Given the description of an element on the screen output the (x, y) to click on. 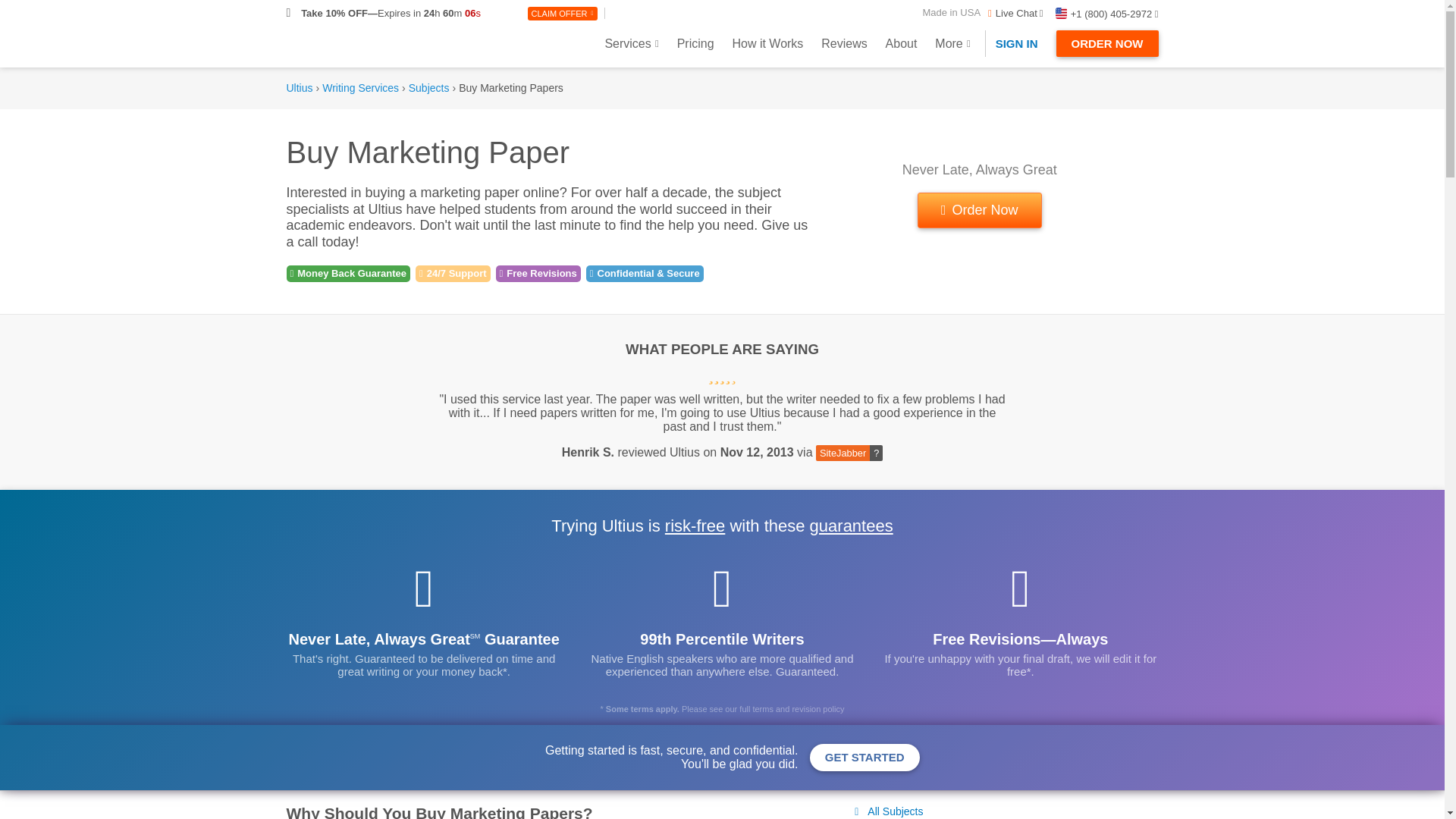
Live Chat (1010, 12)
Services (630, 43)
Subjects (429, 87)
CLAIM OFFER (561, 13)
How it Works (766, 43)
McAfee Secured - Test Daily - Click to Verify (1013, 814)
Pricing (695, 43)
Reviews (844, 43)
About (900, 43)
More phone numbers (1106, 14)
